Given the description of an element on the screen output the (x, y) to click on. 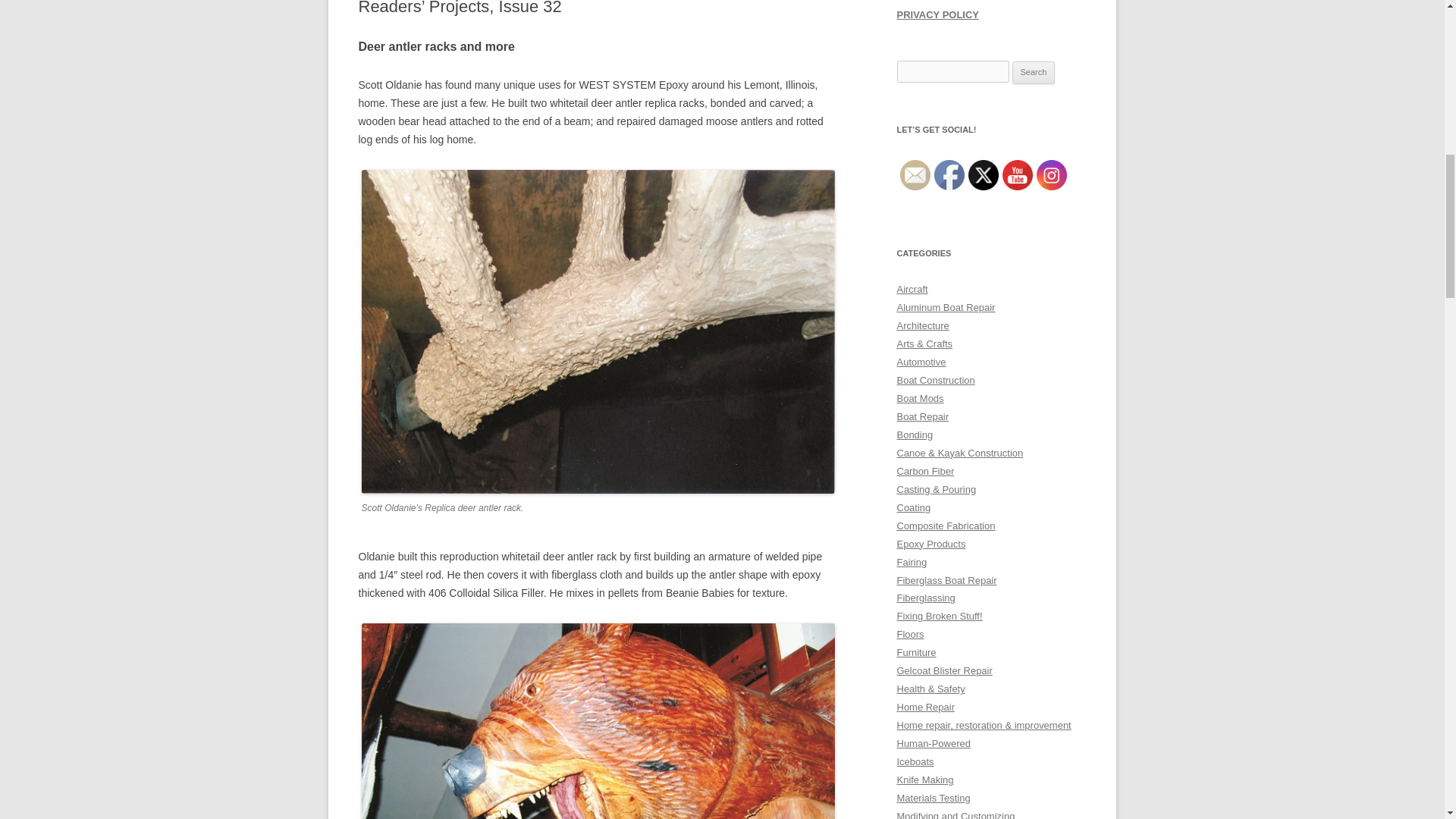
Instagram (1050, 174)
Twitter (982, 174)
Follow by Email (914, 174)
Search (1033, 72)
Facebook (948, 174)
YouTube (1017, 174)
